Given the description of an element on the screen output the (x, y) to click on. 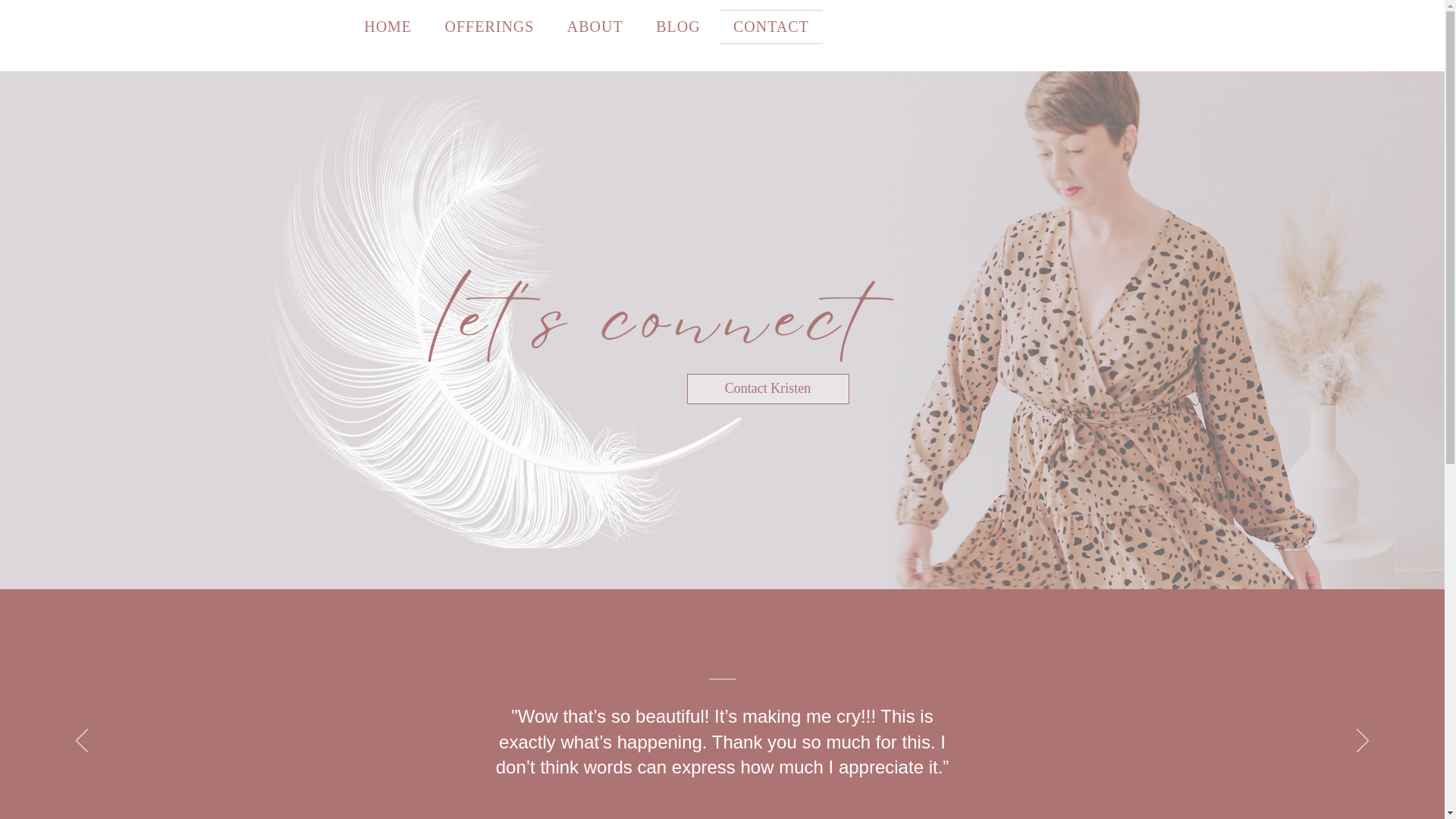
Contact Kristen (767, 388)
OFFERINGS (488, 26)
ABOUT (594, 26)
BLOG (677, 26)
CONTACT (770, 26)
HOME (387, 26)
